Given the description of an element on the screen output the (x, y) to click on. 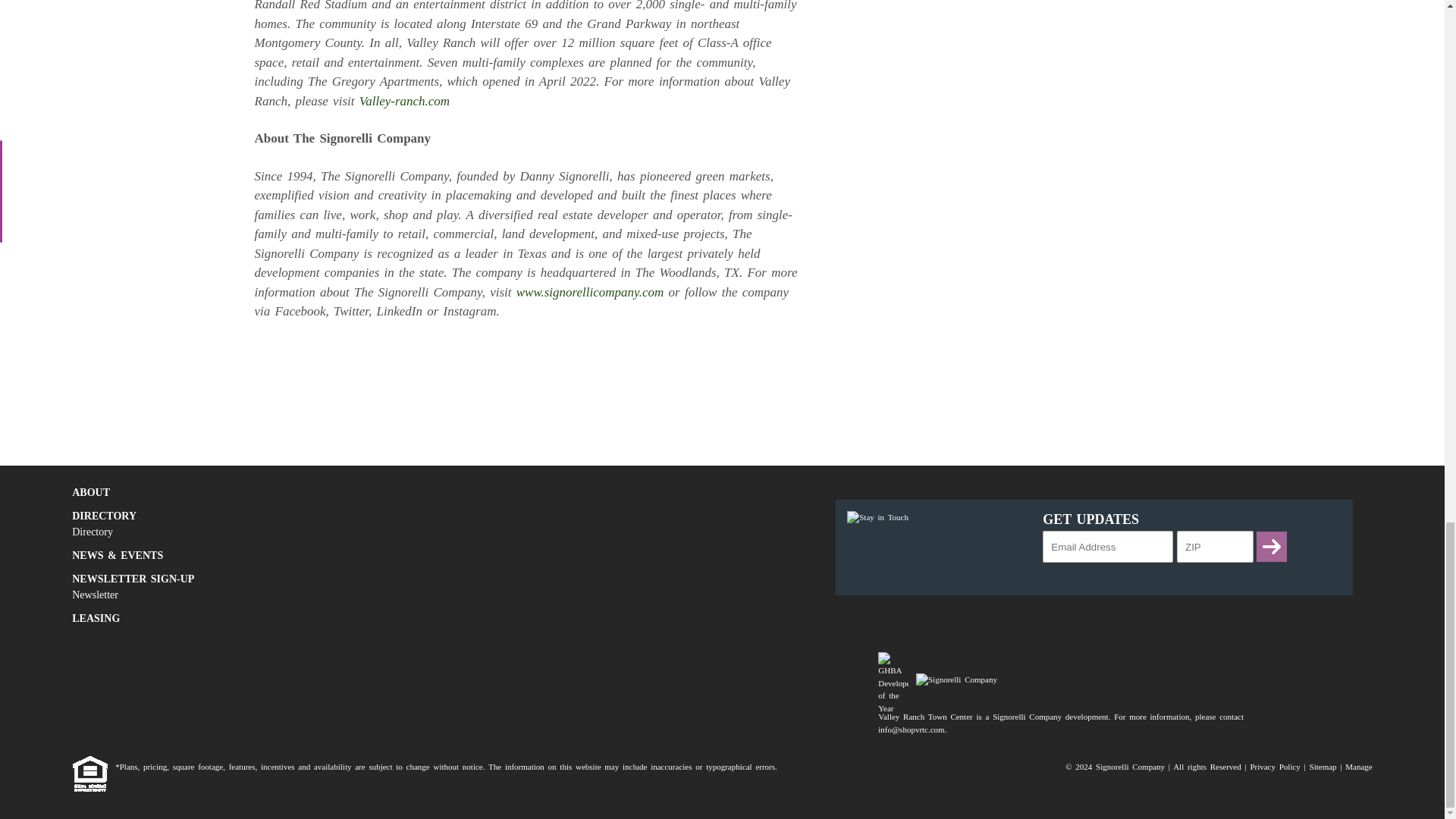
DIRECTORY (429, 515)
Privacy Policy (1274, 766)
Directory (429, 531)
Newsletter (429, 594)
www.signorellicompany.com (589, 292)
ABOUT (429, 492)
Valley-ranch.com (404, 101)
LEASING (429, 618)
Sitemap (1322, 766)
Manage (1358, 766)
